Given the description of an element on the screen output the (x, y) to click on. 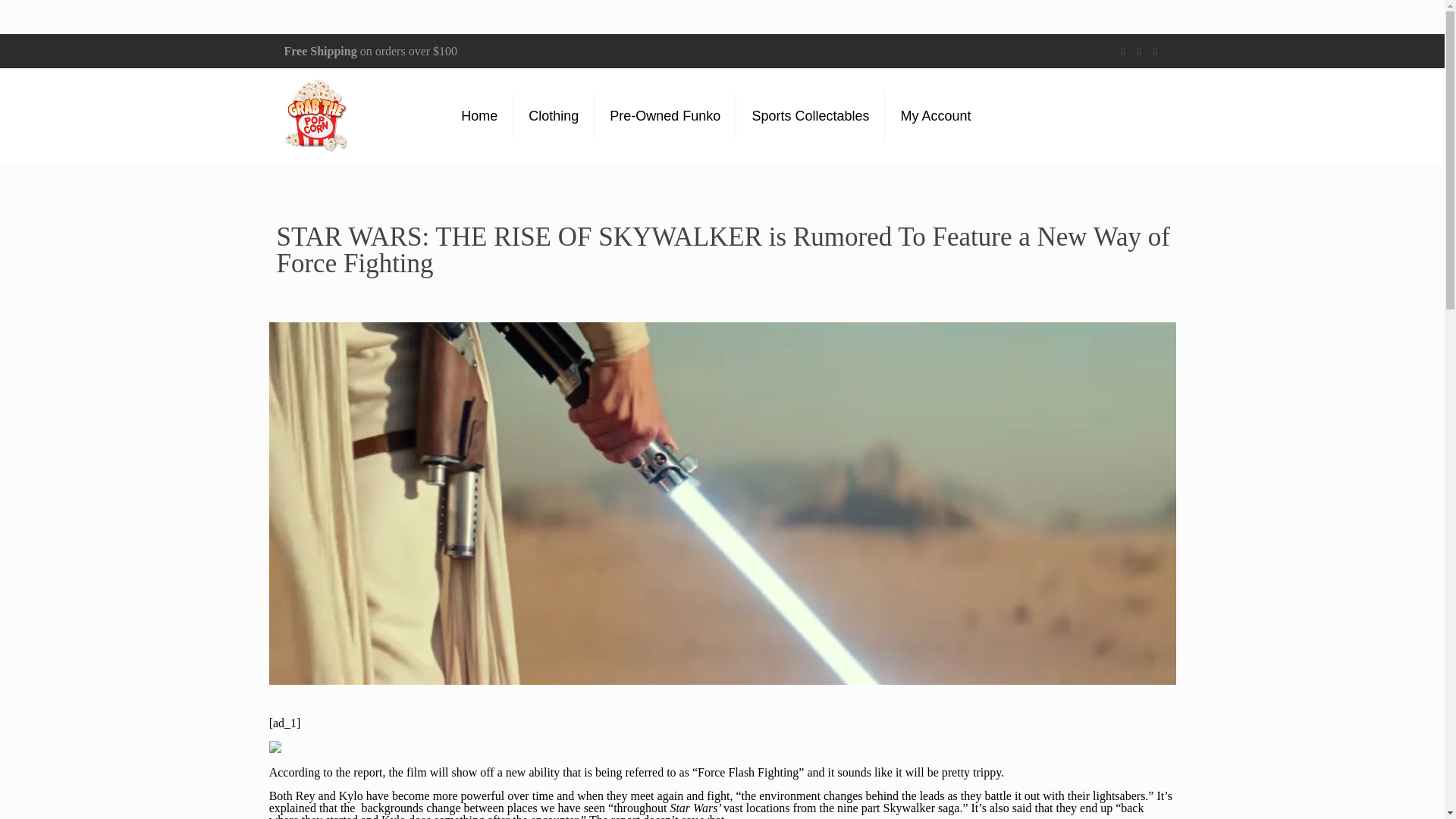
Sports Collectables (810, 115)
Clothing (553, 115)
Home (479, 115)
My Account (935, 115)
RSS (1155, 51)
Facebook (1123, 51)
Pre-Owned Funko (665, 115)
